Given the description of an element on the screen output the (x, y) to click on. 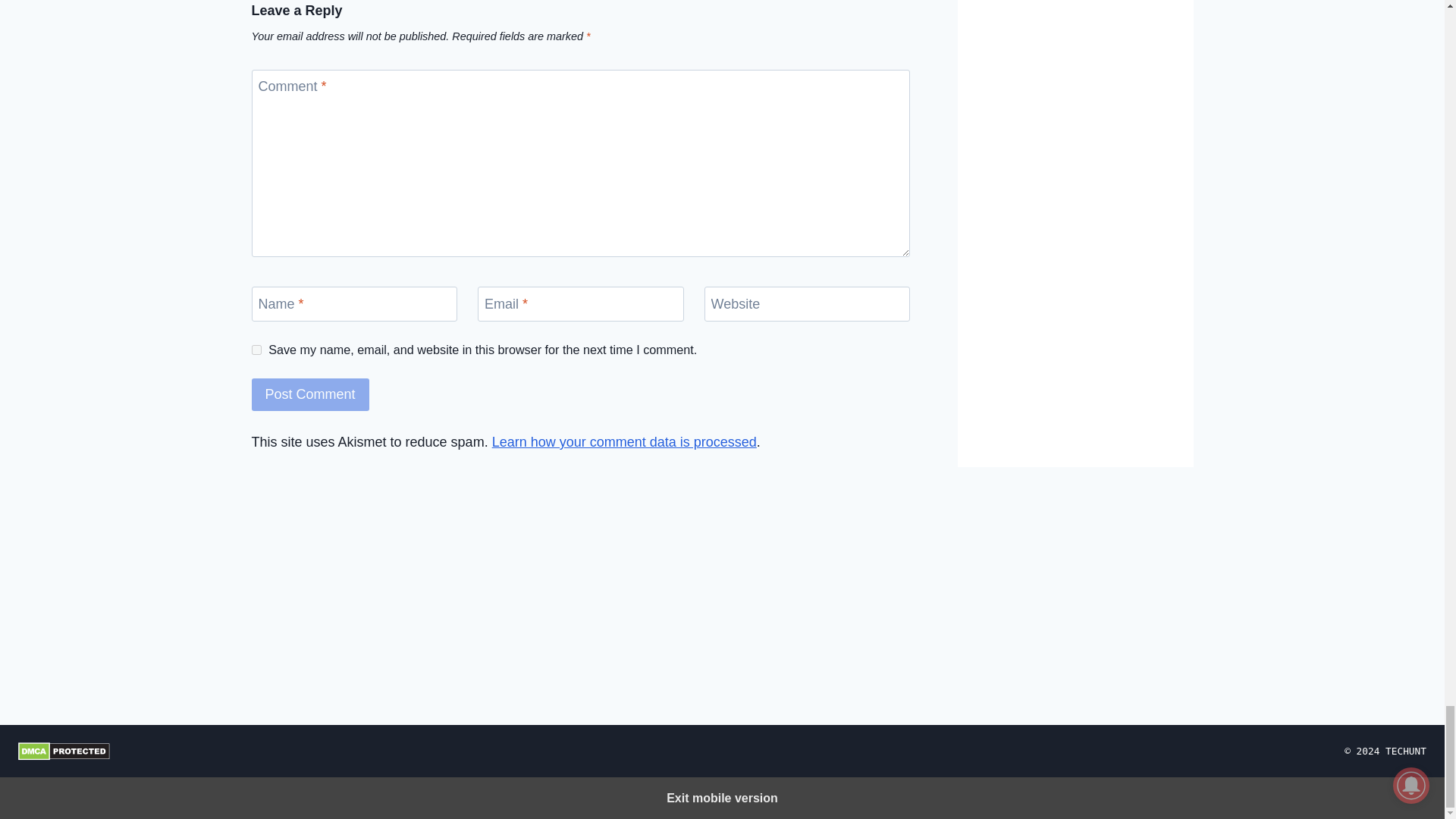
yes (256, 349)
Post Comment (310, 394)
